Given the description of an element on the screen output the (x, y) to click on. 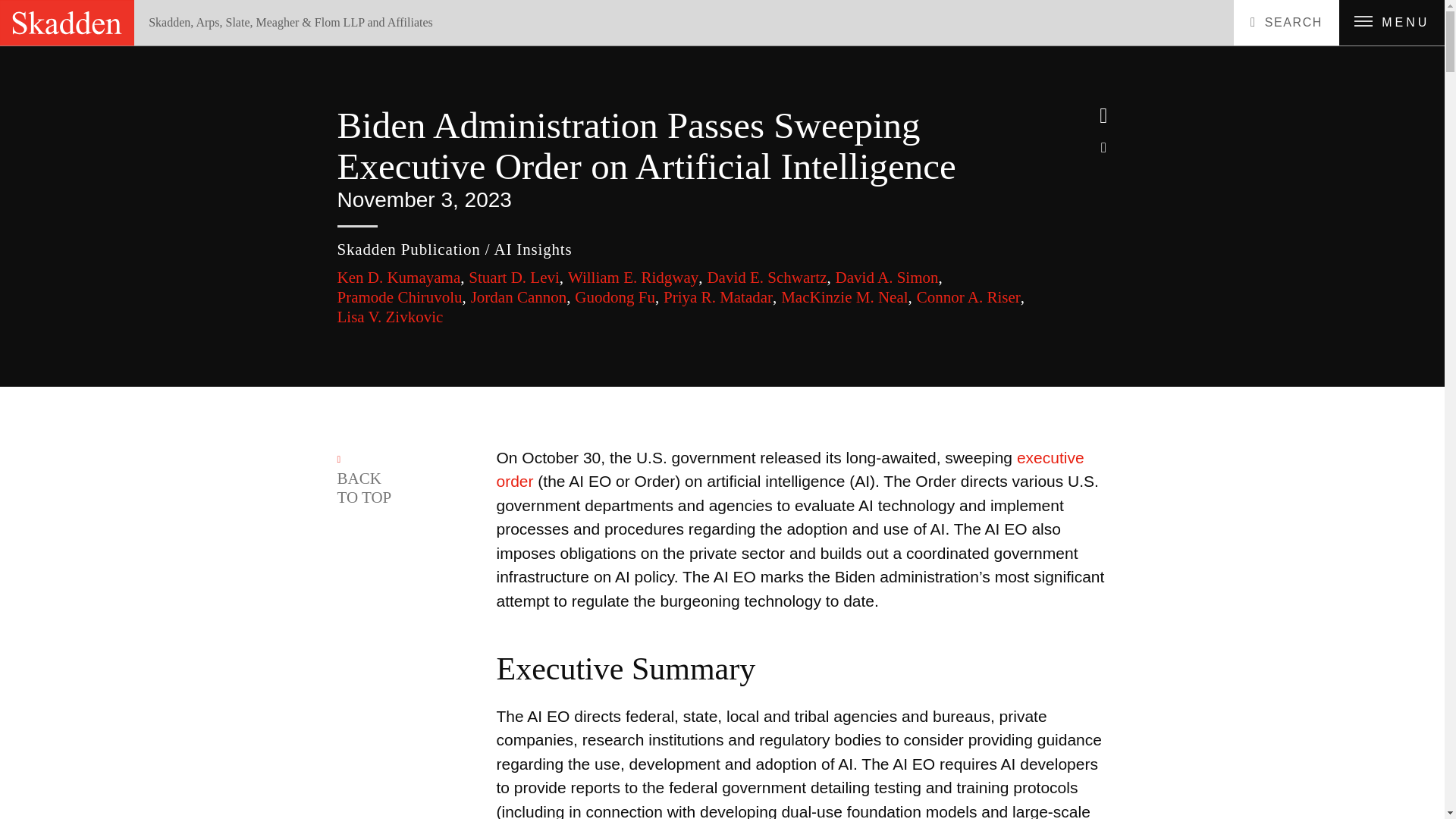
SEARCH (1286, 22)
Guodong Fu (617, 297)
Lisa V. Zivkovic (389, 316)
MacKinzie M. Neal (846, 297)
Pramode Chiruvolu (400, 297)
William E. Ridgway (635, 277)
Connor A. Riser (971, 297)
David E. Schwartz (767, 277)
Priya R. Matadar (719, 297)
Jordan Cannon (520, 297)
